Given the description of an element on the screen output the (x, y) to click on. 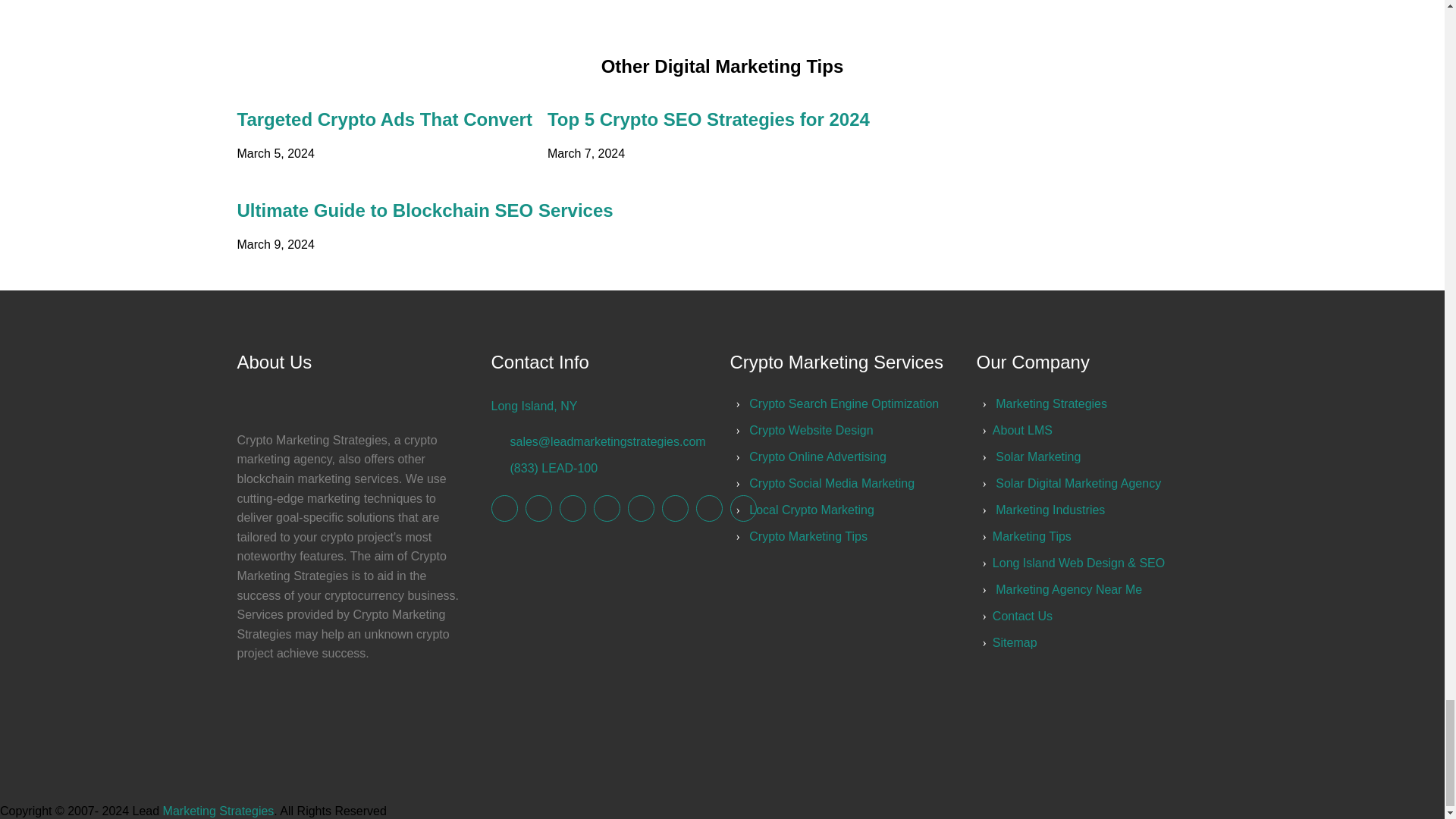
Crypto Marketing Tips (808, 535)
Local Crypto Marketing (812, 509)
Lead Marketing Strategies (742, 508)
Lead Marketing Strategies (1050, 403)
Lead Marketing Strategies (572, 508)
Reputation Management (817, 456)
Search Engine Optimization (844, 403)
Lead Marketing Strategies (708, 508)
PPC Advertising (810, 430)
Lead Marketing Strategies (505, 508)
